Given the description of an element on the screen output the (x, y) to click on. 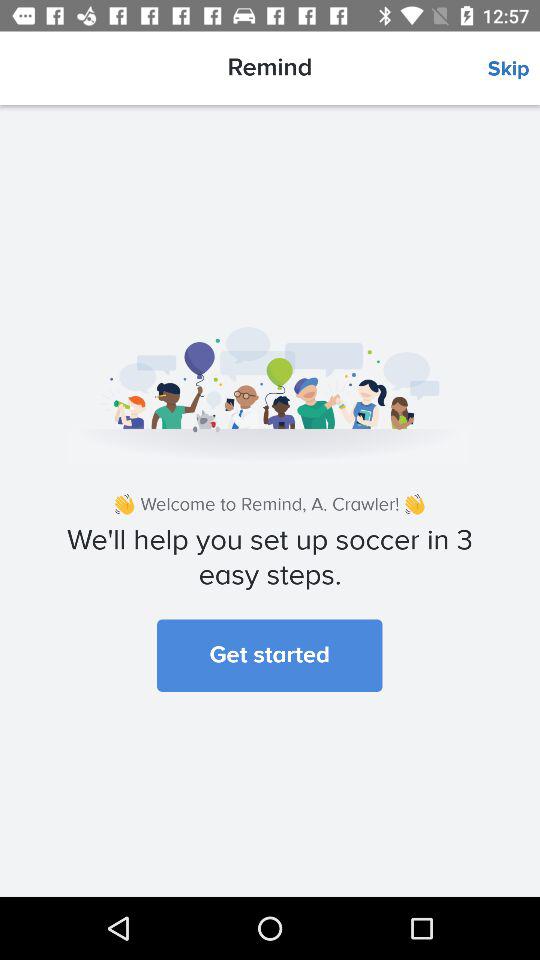
scroll until the skip (513, 69)
